Given the description of an element on the screen output the (x, y) to click on. 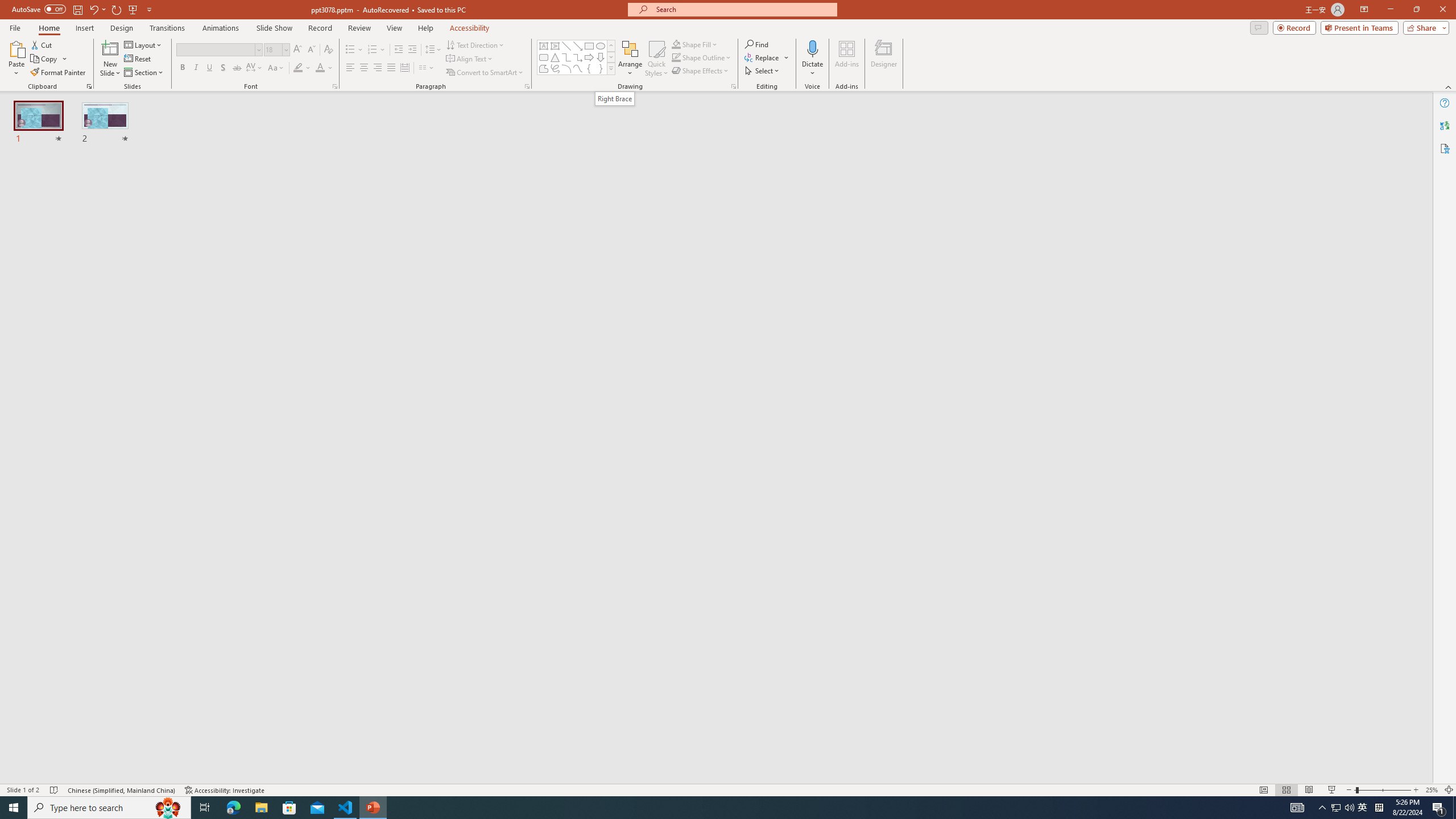
Shape Outline Green, Accent 1 (675, 56)
